Given the description of an element on the screen output the (x, y) to click on. 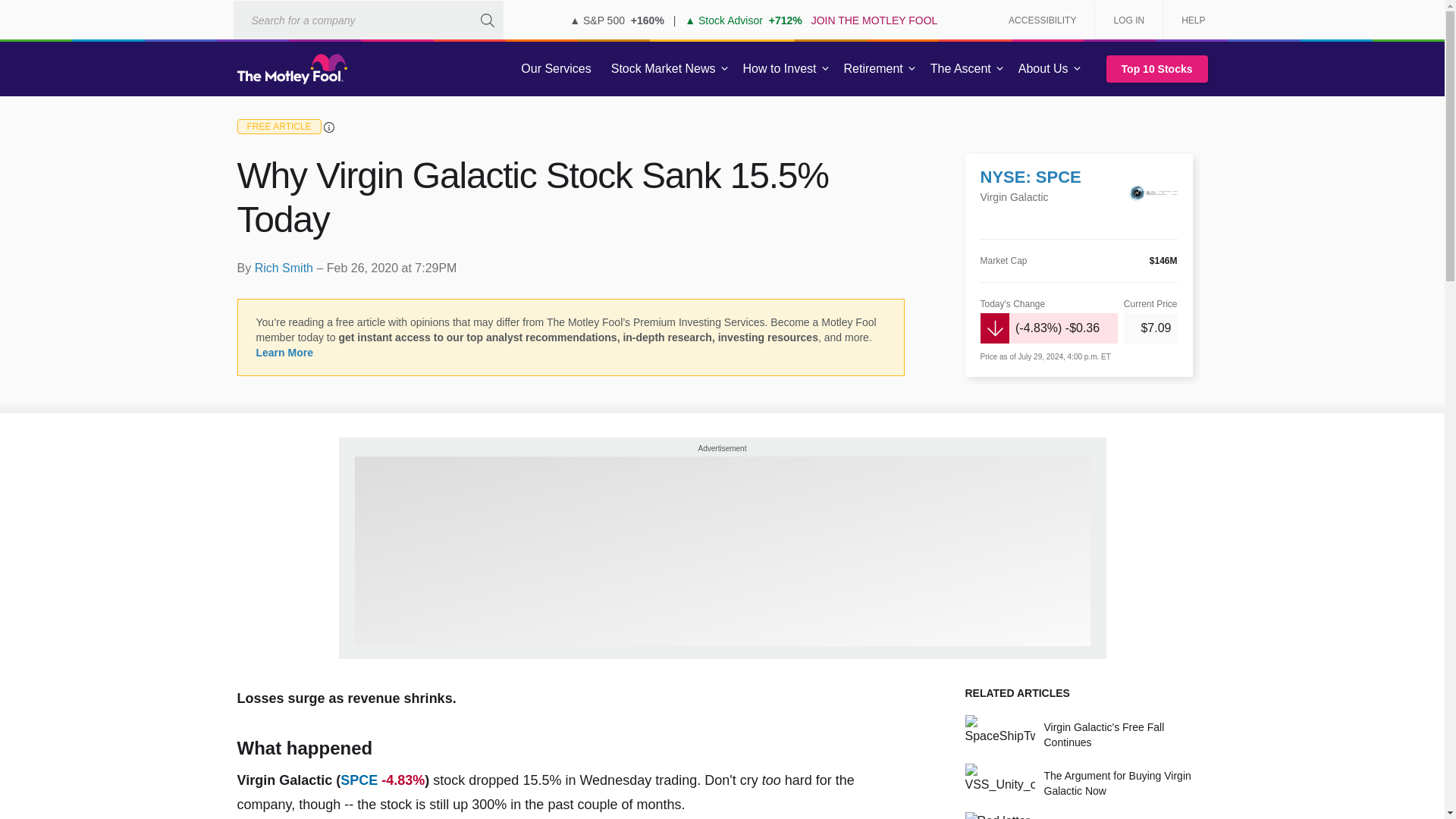
Our Services (555, 68)
How to Invest (779, 68)
LOG IN (1128, 19)
Stock Market News (662, 68)
HELP (1187, 19)
ACCESSIBILITY (1042, 19)
